Given the description of an element on the screen output the (x, y) to click on. 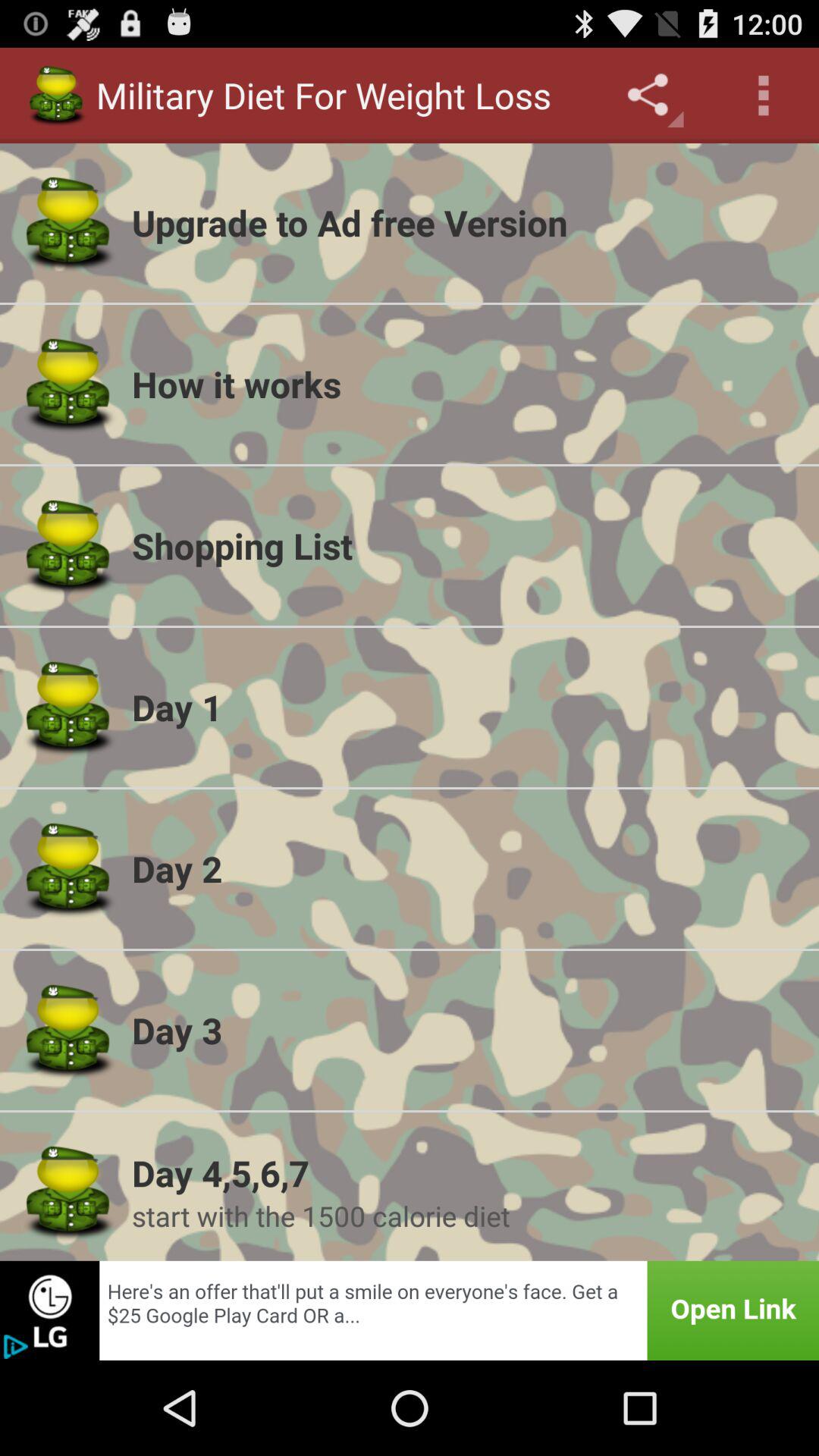
select the upgrade to ad item (465, 222)
